Given the description of an element on the screen output the (x, y) to click on. 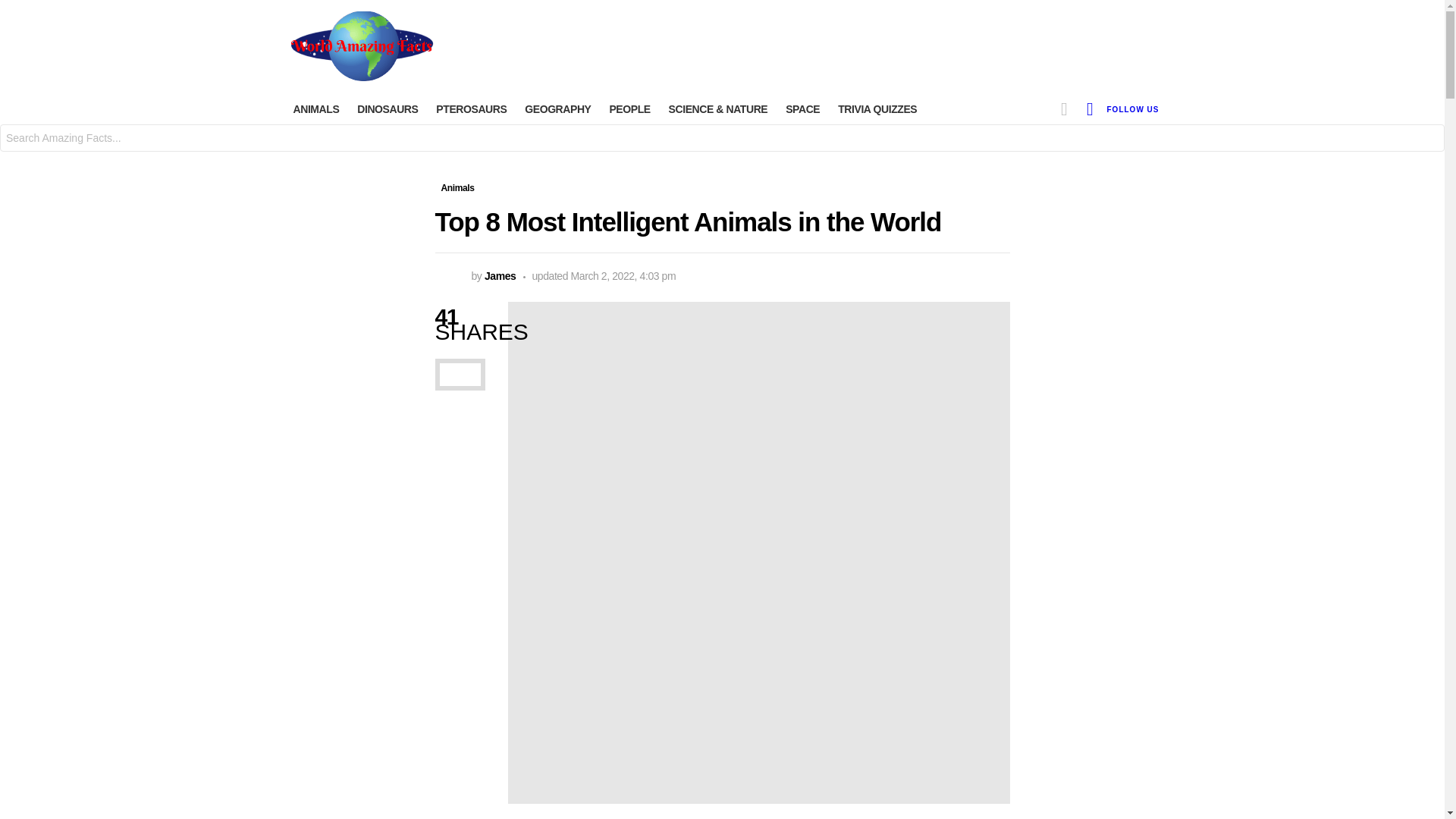
Follow us (1132, 108)
GEOGRAPHY (557, 108)
Posts by James (500, 275)
TRIVIA QUIZZES (876, 108)
FOLLOW US (1132, 108)
Animals (457, 187)
PTEROSAURS (470, 108)
PEOPLE (629, 108)
James (500, 275)
ANIMALS (315, 108)
SPACE (802, 108)
DINOSAURS (387, 108)
